Given the description of an element on the screen output the (x, y) to click on. 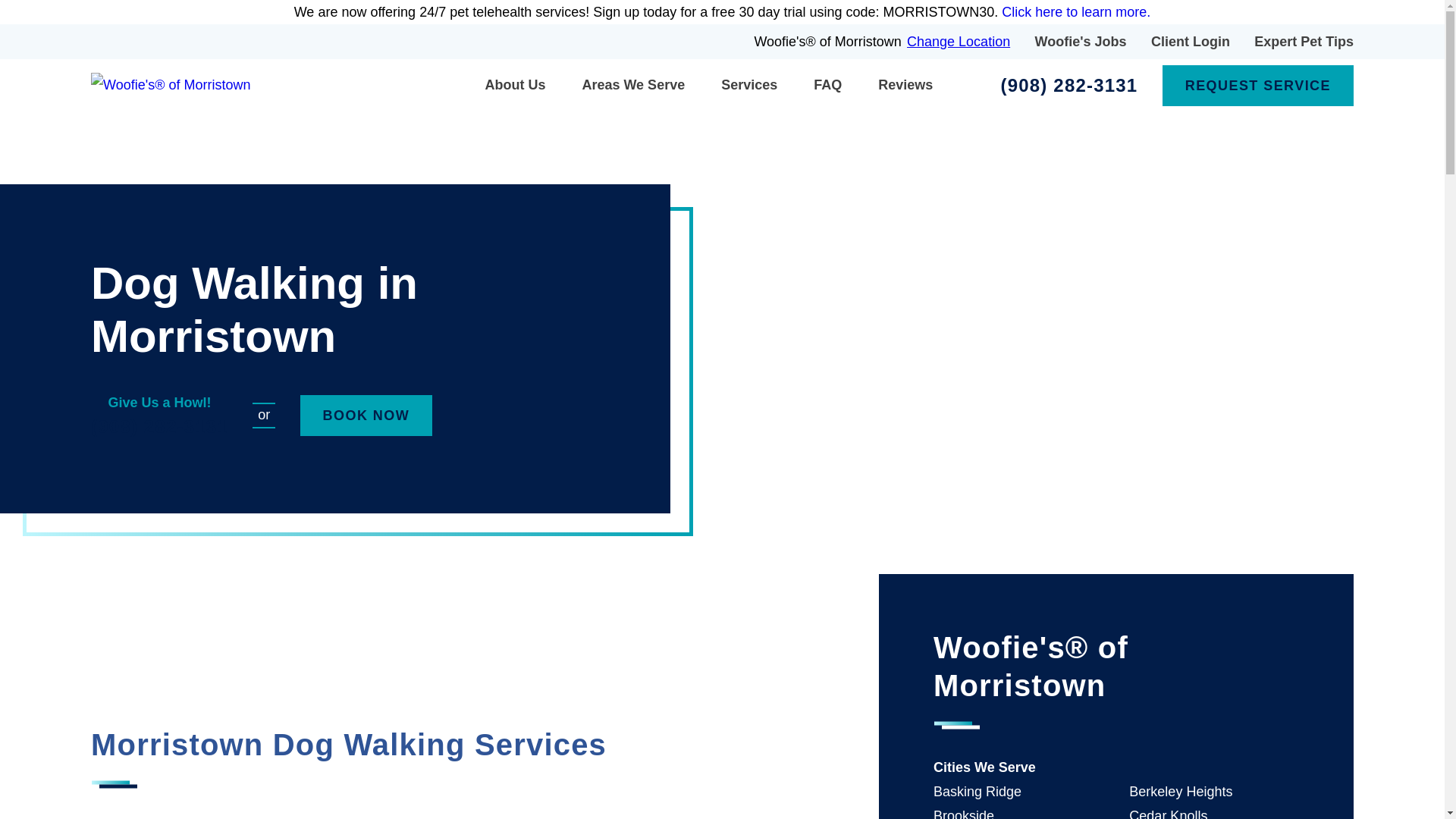
FAQ (827, 84)
Client Login (1190, 41)
Click here to learn more. (1075, 11)
Areas We Serve (633, 85)
Expert Pet Tips (1303, 41)
Services (748, 85)
Reviews (905, 84)
Change Location (958, 41)
REQUEST SERVICE (1257, 85)
Search our site (967, 85)
